Given the description of an element on the screen output the (x, y) to click on. 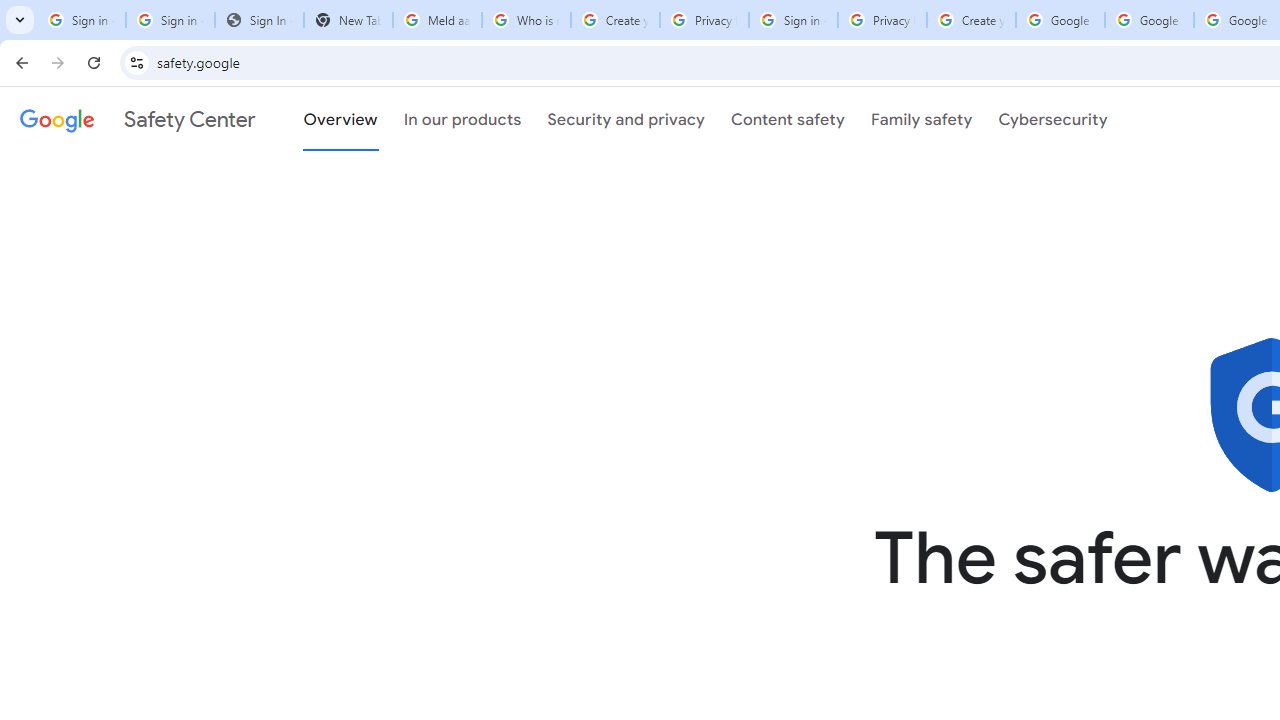
Create your Google Account (971, 20)
Cybersecurity (1053, 119)
Create your Google Account (615, 20)
Security and privacy (626, 119)
Sign in - Google Accounts (81, 20)
Content safety (787, 119)
Sign in - Google Accounts (170, 20)
Sign in - Google Accounts (793, 20)
